Given the description of an element on the screen output the (x, y) to click on. 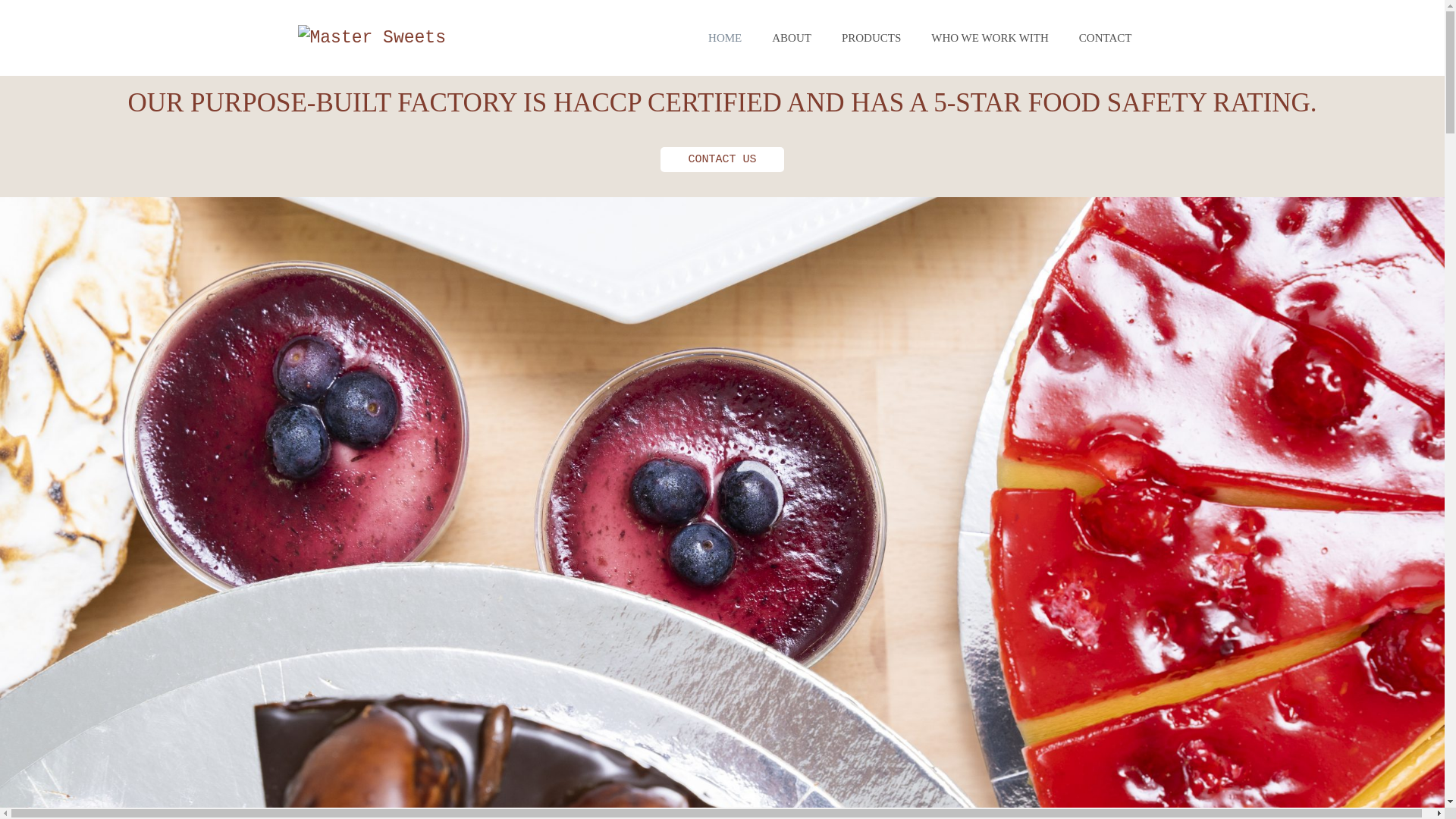
CONTACT Element type: text (1105, 37)
CONTACT US Element type: text (721, 159)
Master Sweets Element type: hover (371, 37)
WHO WE WORK WITH Element type: text (989, 37)
HOME Element type: text (724, 37)
PRODUCTS Element type: text (871, 37)
Master Sweets Element type: hover (371, 38)
ABOUT Element type: text (791, 37)
